Given the description of an element on the screen output the (x, y) to click on. 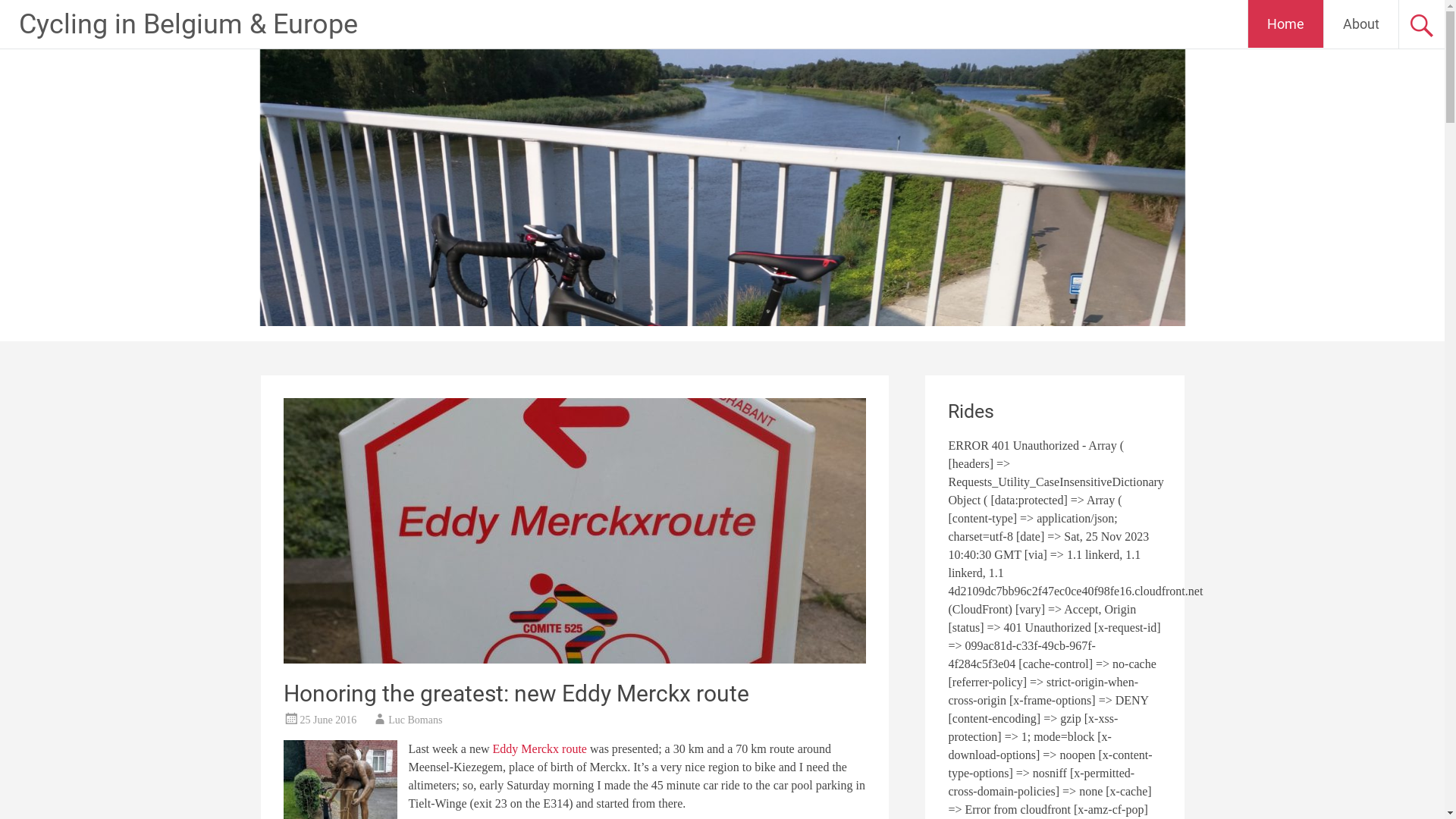
Honoring the greatest: new Eddy Merckx route Element type: hover (574, 658)
Luc Bomans Element type: text (415, 719)
Honoring the greatest: new Eddy Merckx route Element type: hover (574, 530)
Honoring the greatest: new Eddy Merckx route Element type: text (516, 693)
Skip to content Element type: text (1306, 9)
Cycling in Belgium & Europe Element type: text (187, 24)
Home Element type: text (1285, 23)
Eddy Merckx route Element type: text (539, 748)
25 June 2016 Element type: text (328, 719)
About Element type: text (1361, 23)
